Given the description of an element on the screen output the (x, y) to click on. 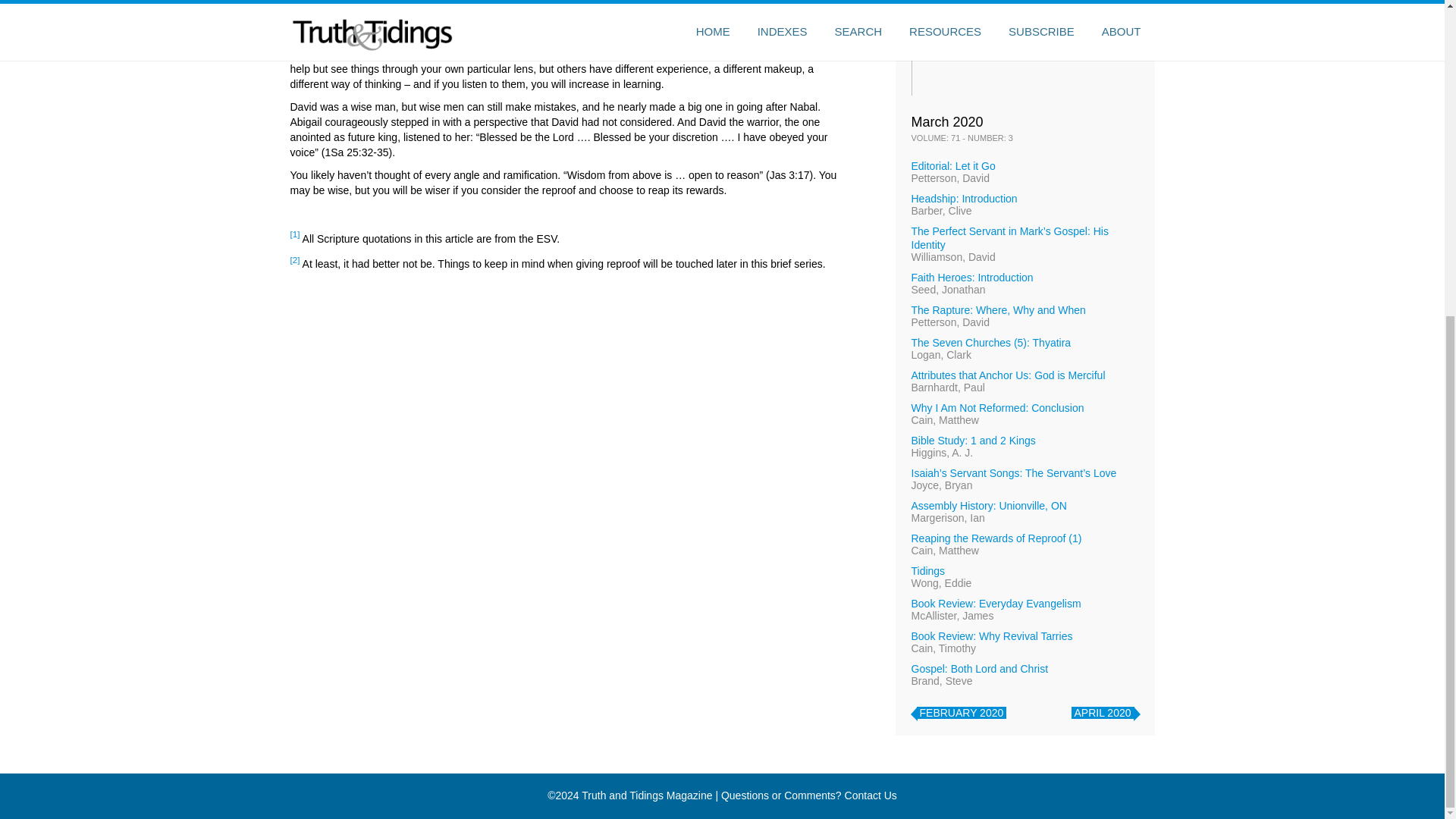
Editorial: Let it Go (953, 165)
The Rapture: Where, Why and When (998, 309)
Headship: Introduction (964, 198)
Faith Heroes: Introduction (972, 277)
Attributes that Anchor Us: God is Merciful (1008, 375)
Assembly History: Unionville, ON (989, 505)
The Rapture: Where, Why and When (998, 309)
Faith Heroes: Introduction (972, 277)
Attributes that Anchor Us: God is Merciful (1008, 375)
Bible Study: 1 and 2 Kings (973, 440)
